Given the description of an element on the screen output the (x, y) to click on. 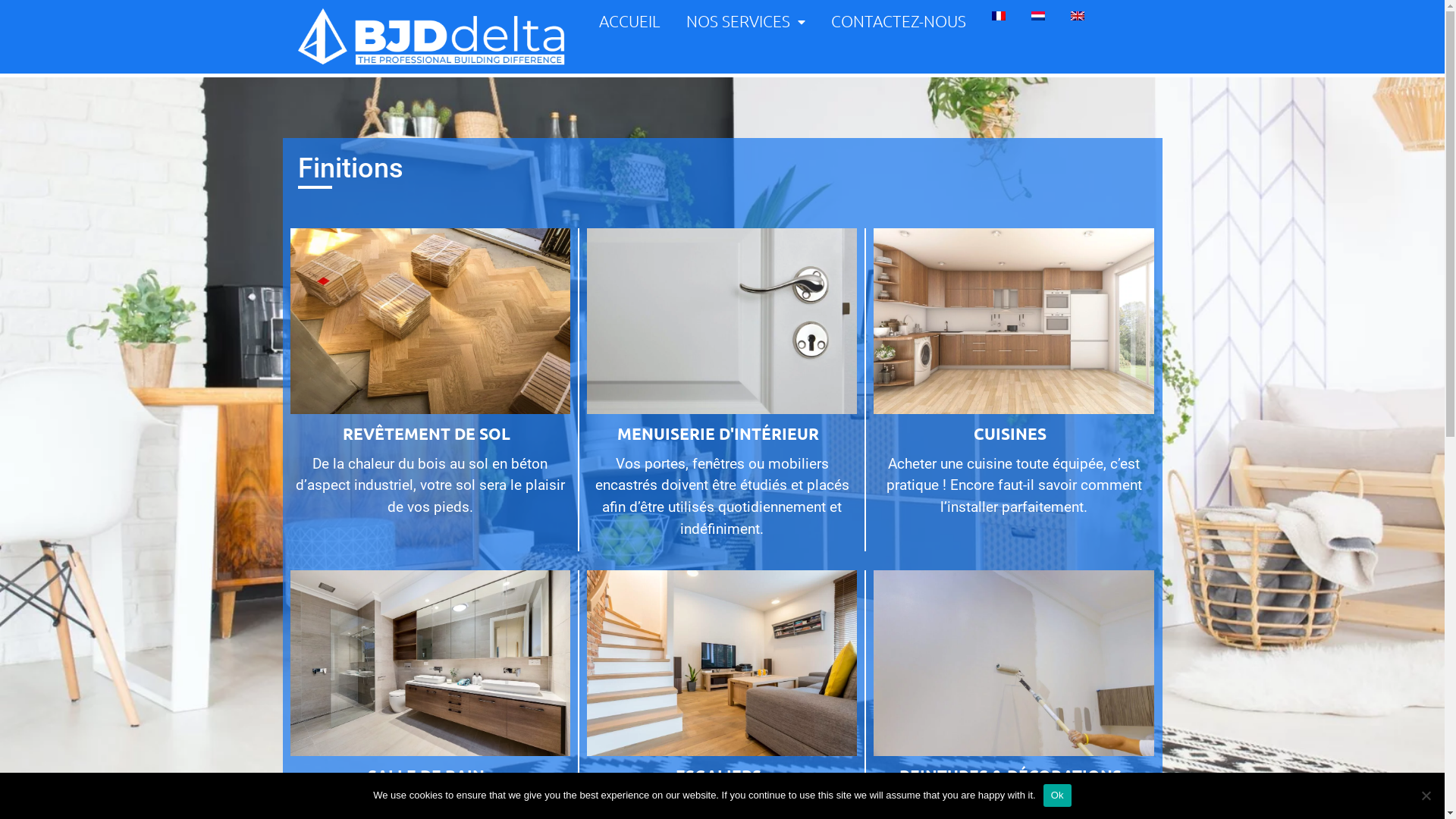
No Element type: hover (1425, 795)
Ok Element type: text (1057, 795)
CONTACTEZ-NOUS Element type: text (898, 20)
ACCUEIL Element type: text (629, 20)
NOS SERVICES Element type: text (745, 20)
